Given the description of an element on the screen output the (x, y) to click on. 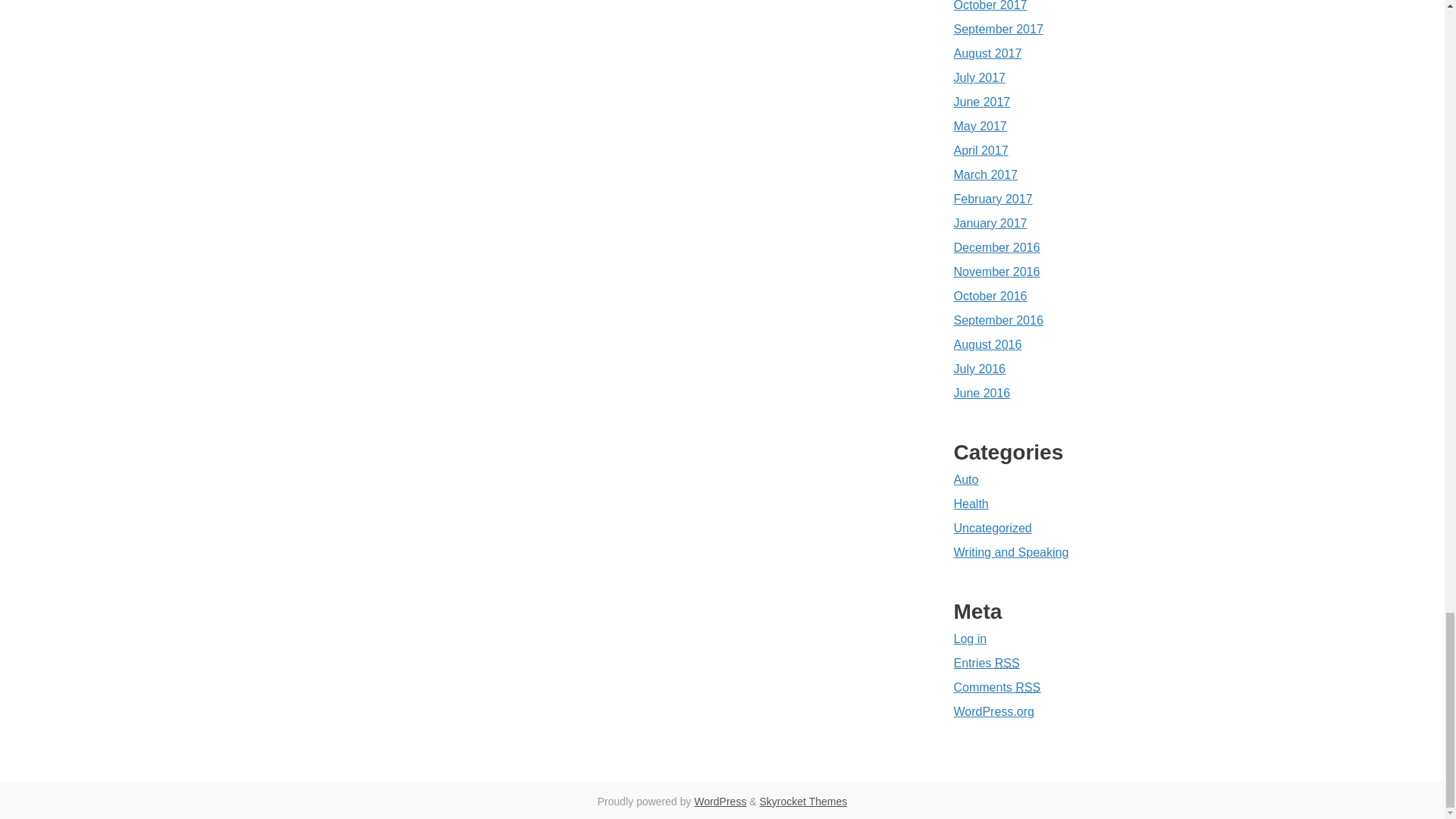
Really Simple Syndication (1007, 662)
Health Category (970, 503)
Writing and Speaking Category (1010, 552)
Skyrocket Themes (803, 801)
Auto Category (965, 479)
Really Simple Syndication (1027, 686)
Semantic Personal Publishing Platform (719, 801)
